Given the description of an element on the screen output the (x, y) to click on. 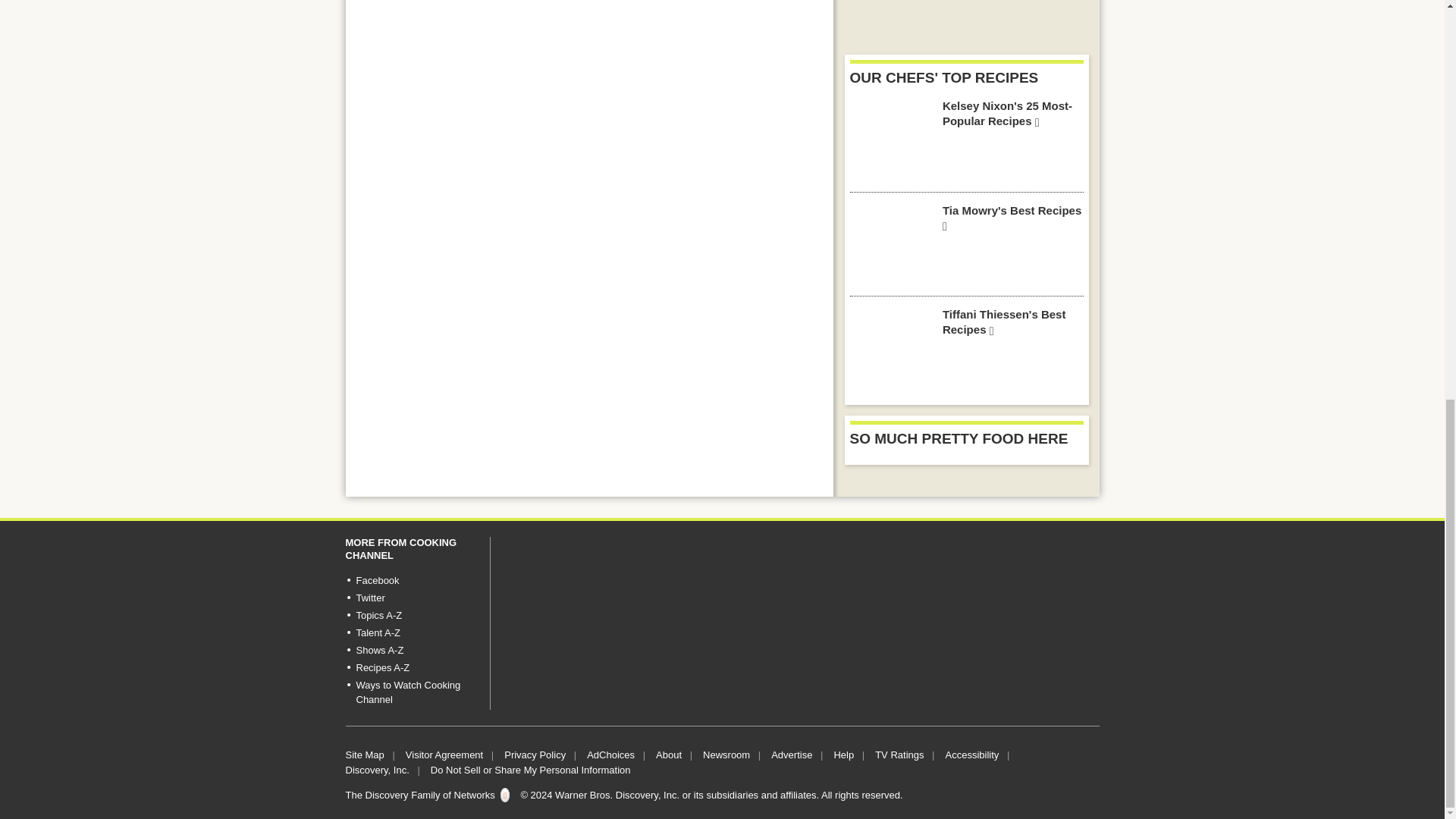
Shows A-Z (380, 650)
Facebook (377, 580)
Talent A-Z (378, 632)
Tiffani Thiessen's Best Recipes (889, 348)
Tia Mowry's Best Recipes (889, 244)
Kelsey Nixon's 25 Most-Popular Recipes (889, 139)
Twitter (370, 597)
Topics A-Z (379, 614)
